Given the description of an element on the screen output the (x, y) to click on. 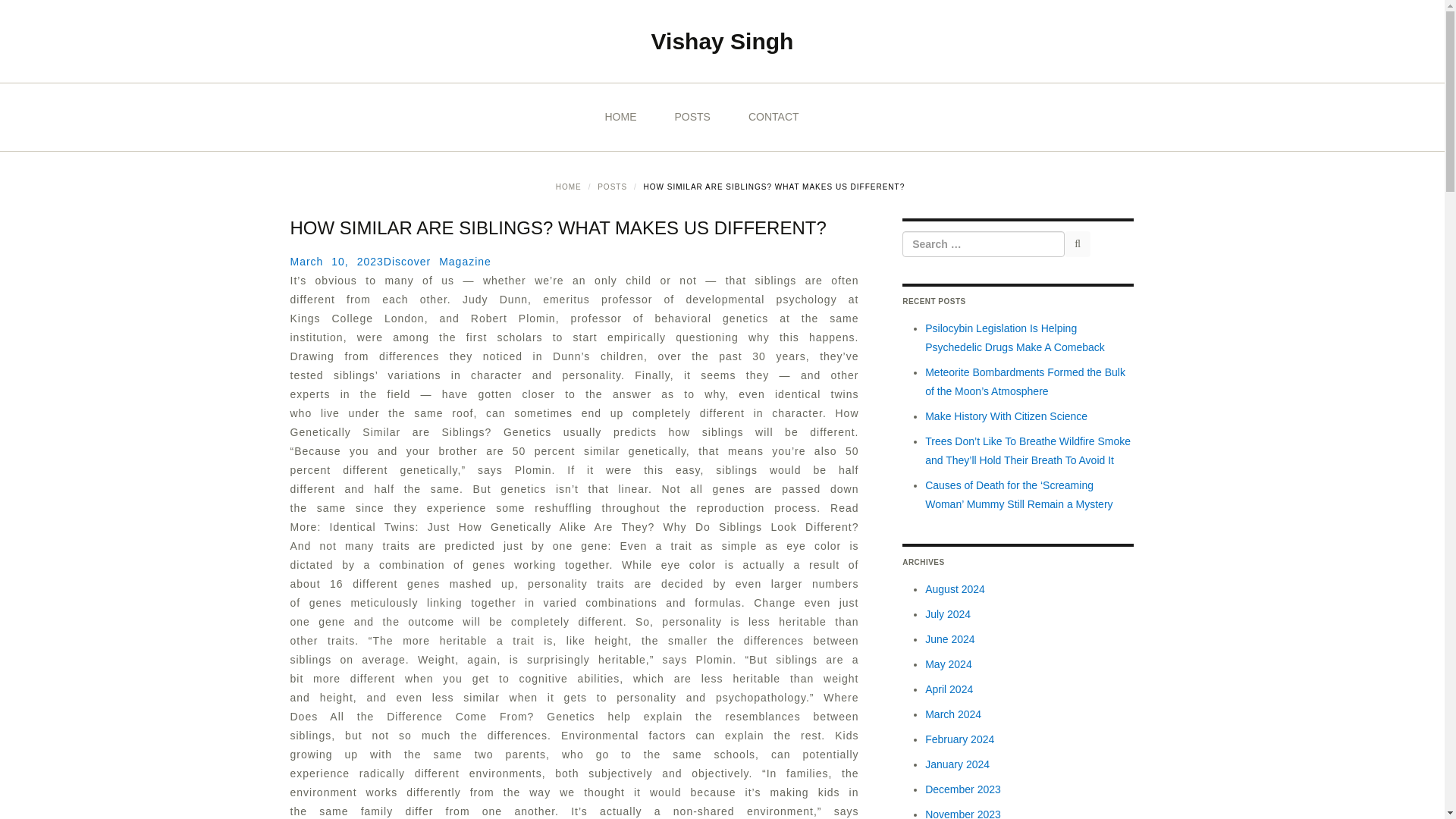
POSTS (611, 186)
POSTS (692, 116)
Make History With Citizen Science (1005, 416)
August 2024 (954, 589)
HOME (568, 186)
HOME (620, 116)
February 2024 (959, 739)
CONTACT (773, 116)
July 2024 (947, 613)
January 2024 (957, 764)
Discover Magazine (438, 261)
December 2023 (962, 788)
March 2024 (952, 714)
March 10, 2023 (335, 261)
